Given the description of an element on the screen output the (x, y) to click on. 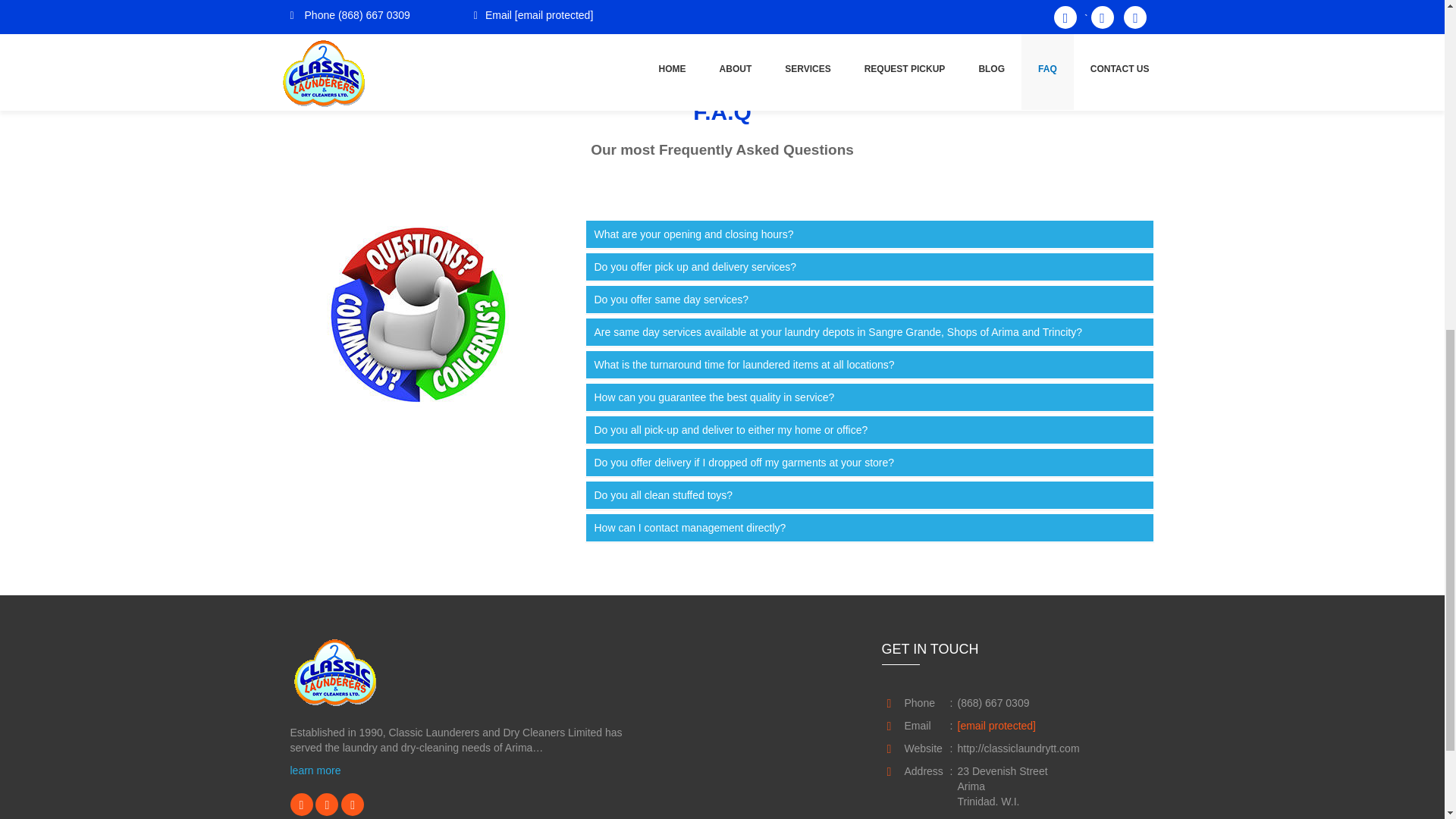
Do you offer same day services? (869, 299)
How can I contact management directly? (869, 527)
How can you guarantee the best quality in service? (869, 396)
learn more (314, 770)
enquiry (395, 3)
Do you offer pick up and delivery services? (869, 266)
Do you all pick-up and deliver to either my home or office? (869, 429)
Do you all clean stuffed toys? (869, 494)
What are your opening and closing hours? (869, 233)
here (636, 3)
